Given the description of an element on the screen output the (x, y) to click on. 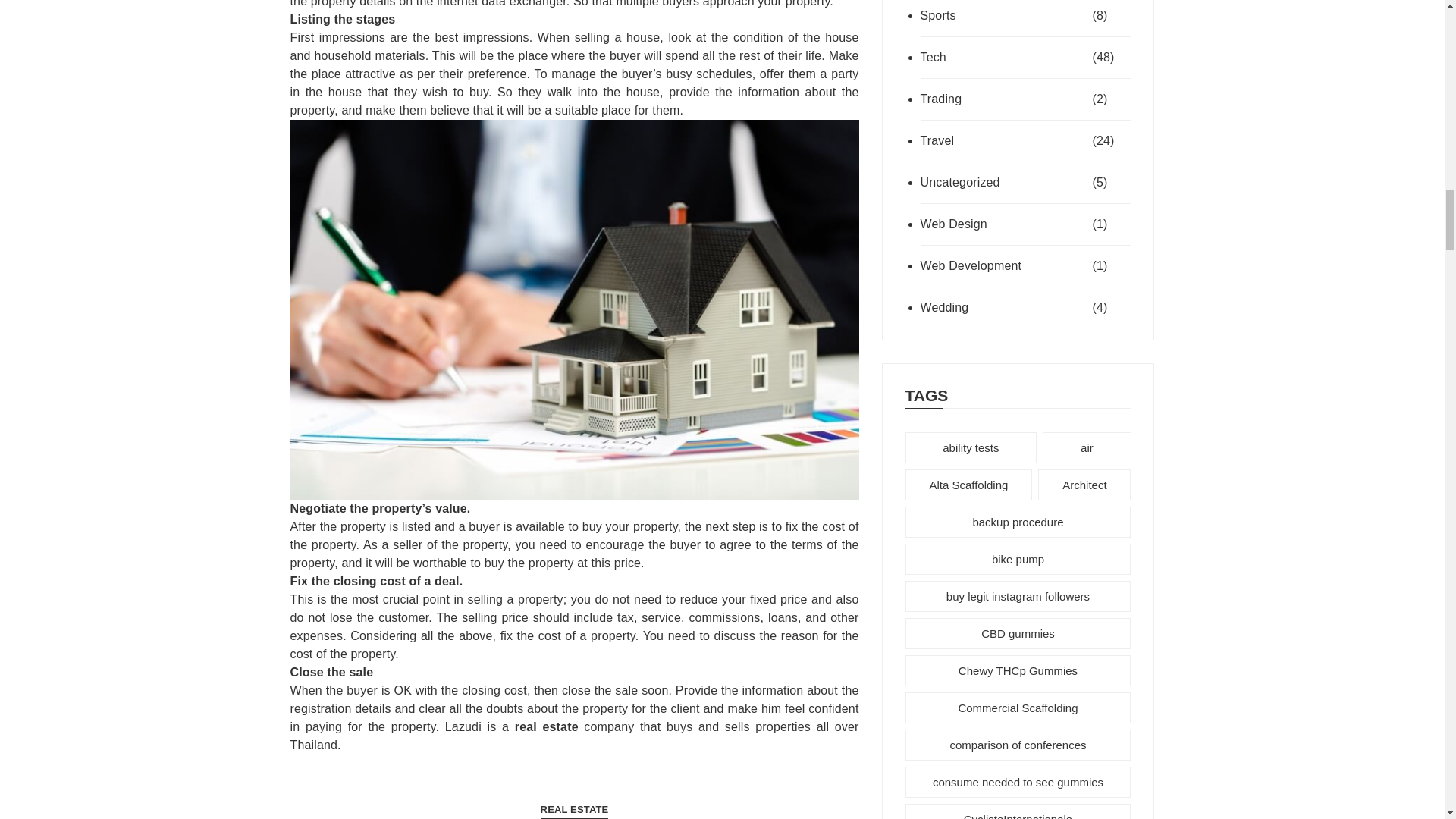
REAL ESTATE (574, 810)
real estate (546, 726)
